Given the description of an element on the screen output the (x, y) to click on. 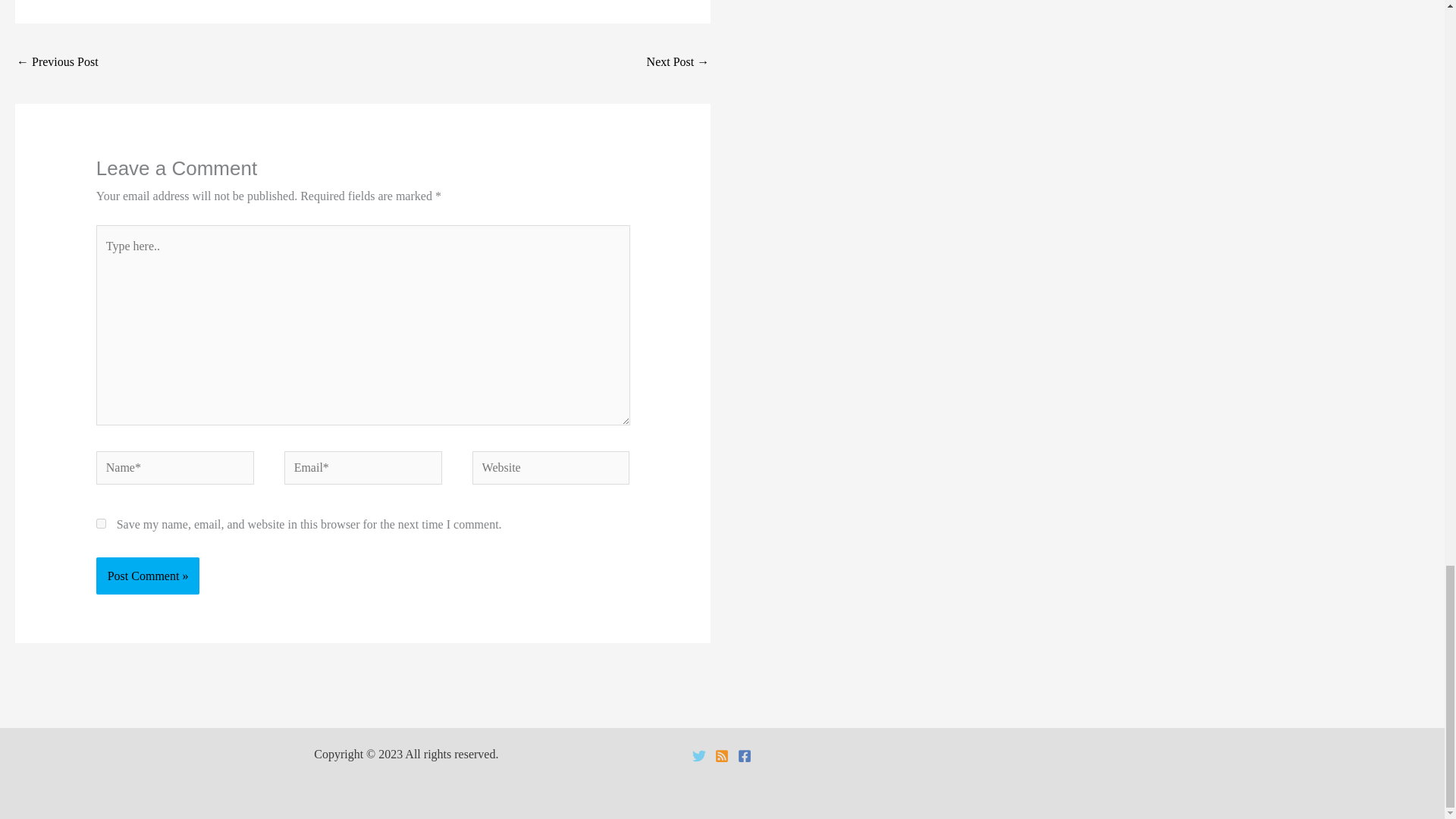
Dealing With An Egg Allergy (678, 62)
Dangers Posed by Sleep Positioning Devices For Babies (57, 62)
yes (101, 523)
